Given the description of an element on the screen output the (x, y) to click on. 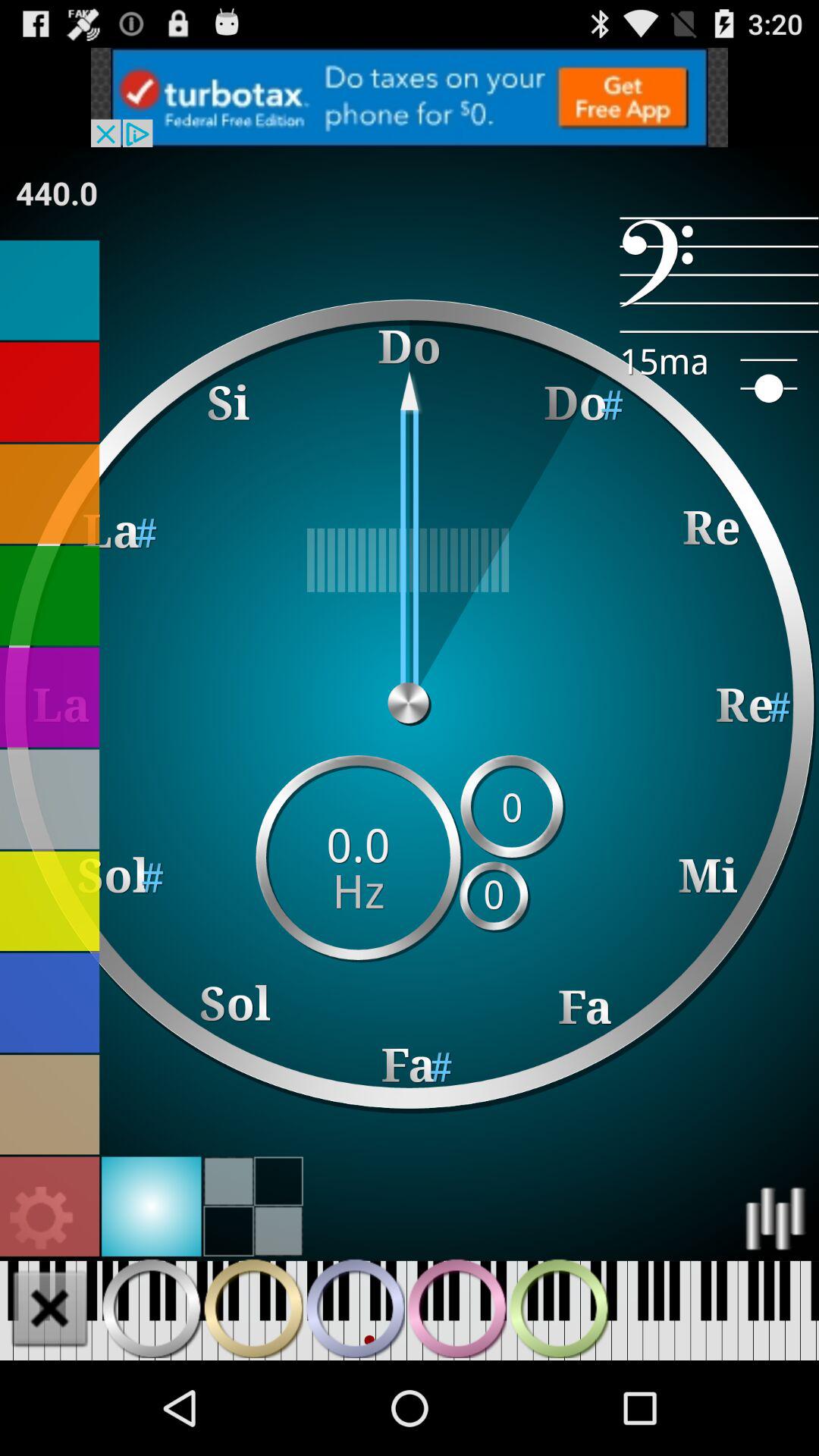
settings (49, 1206)
